Given the description of an element on the screen output the (x, y) to click on. 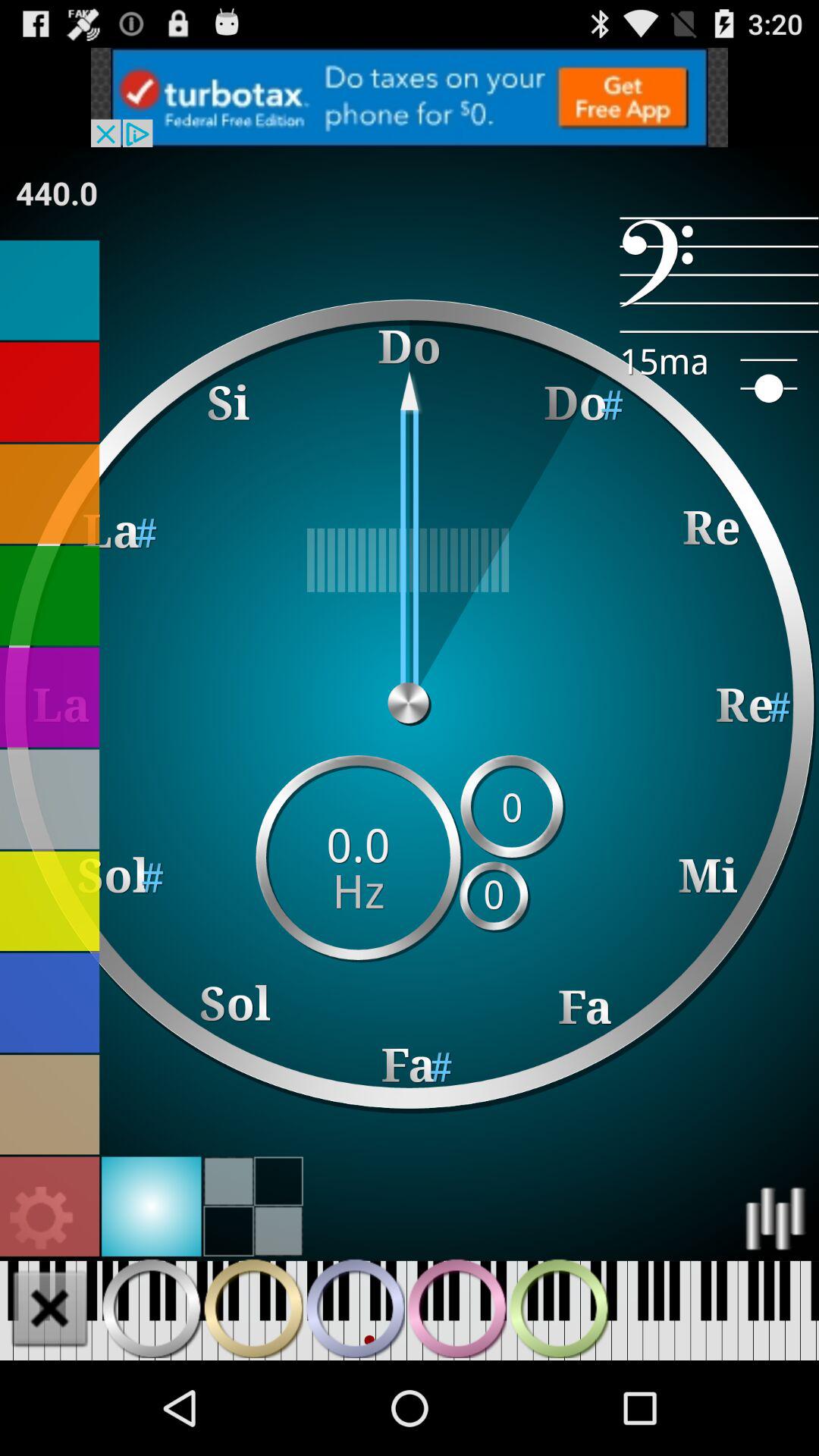
settings (49, 1206)
